Given the description of an element on the screen output the (x, y) to click on. 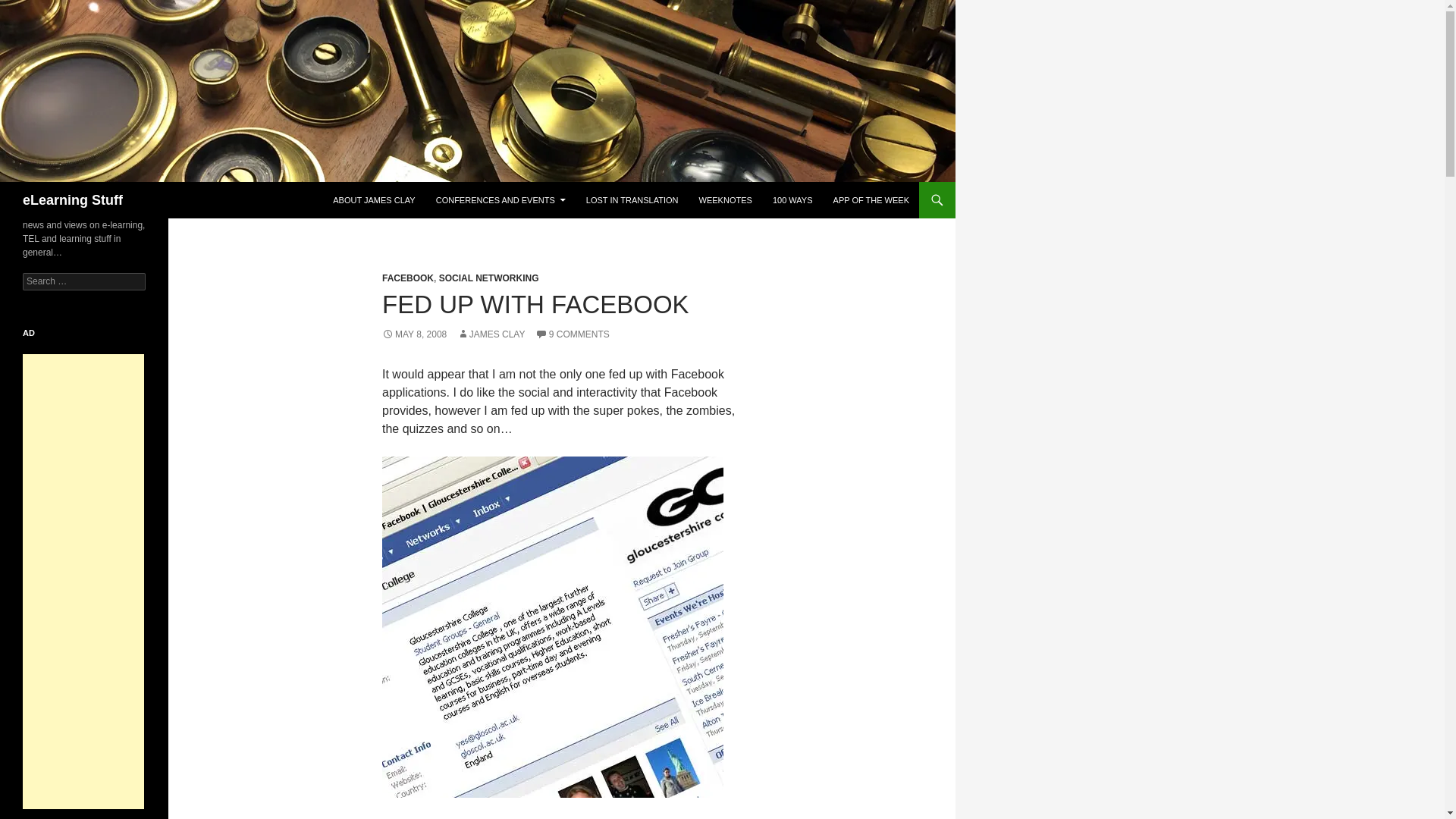
CONFERENCES AND EVENTS (500, 199)
MAY 8, 2008 (413, 334)
eLearning Stuff (72, 199)
100 WAYS (792, 199)
APP OF THE WEEK (871, 199)
LOST IN TRANSLATION (631, 199)
FACEBOOK (407, 277)
SOCIAL NETWORKING (488, 277)
9 COMMENTS (572, 334)
JAMES CLAY (491, 334)
WEEKNOTES (725, 199)
ABOUT JAMES CLAY (373, 199)
